Given the description of an element on the screen output the (x, y) to click on. 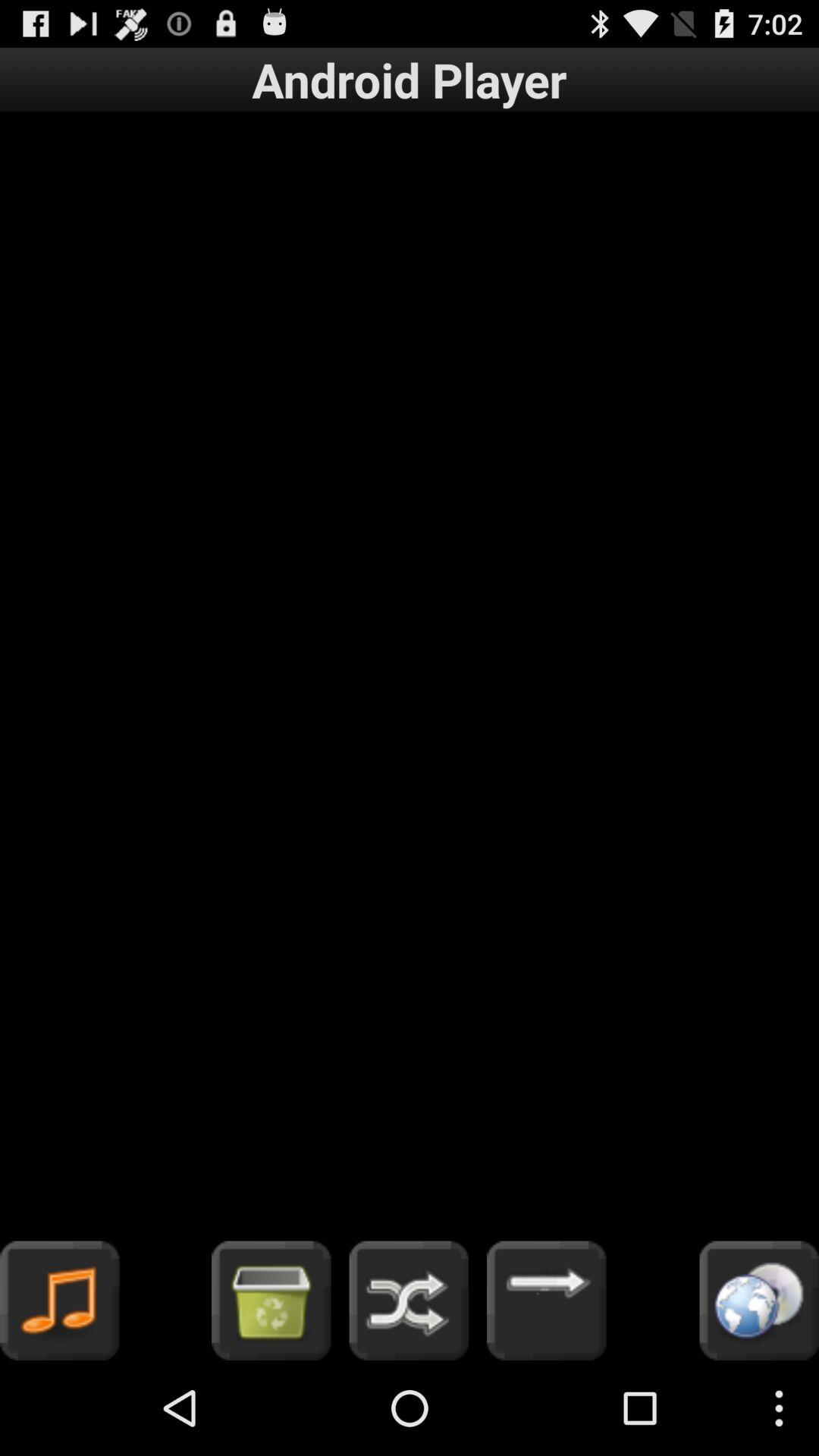
flip until android player icon (409, 79)
